Given the description of an element on the screen output the (x, y) to click on. 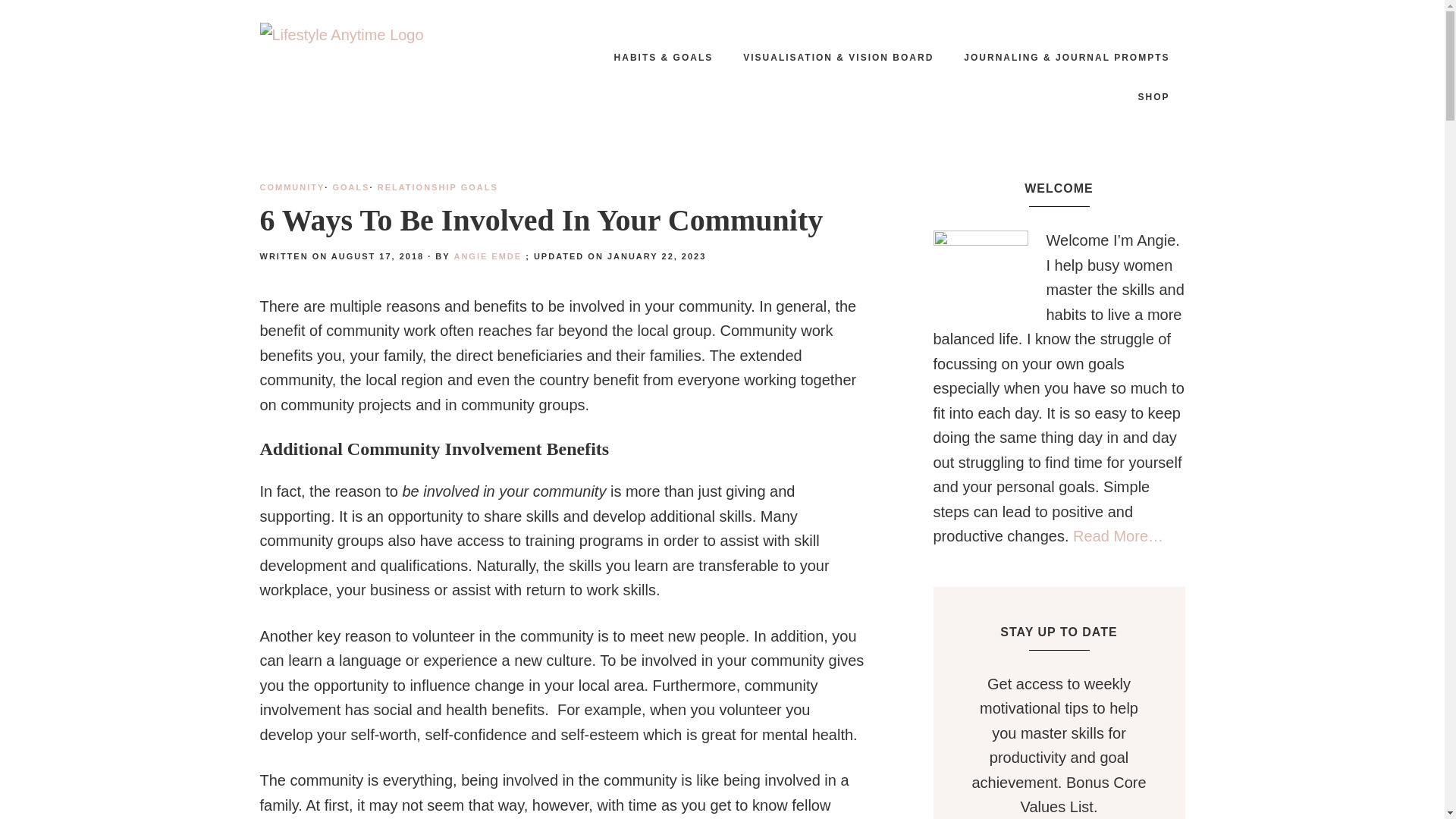
RELATIONSHIP GOALS (437, 186)
COMMUNITY (291, 186)
SHOP (1153, 96)
ANGIE EMDE (486, 256)
GOALS (350, 186)
